Given the description of an element on the screen output the (x, y) to click on. 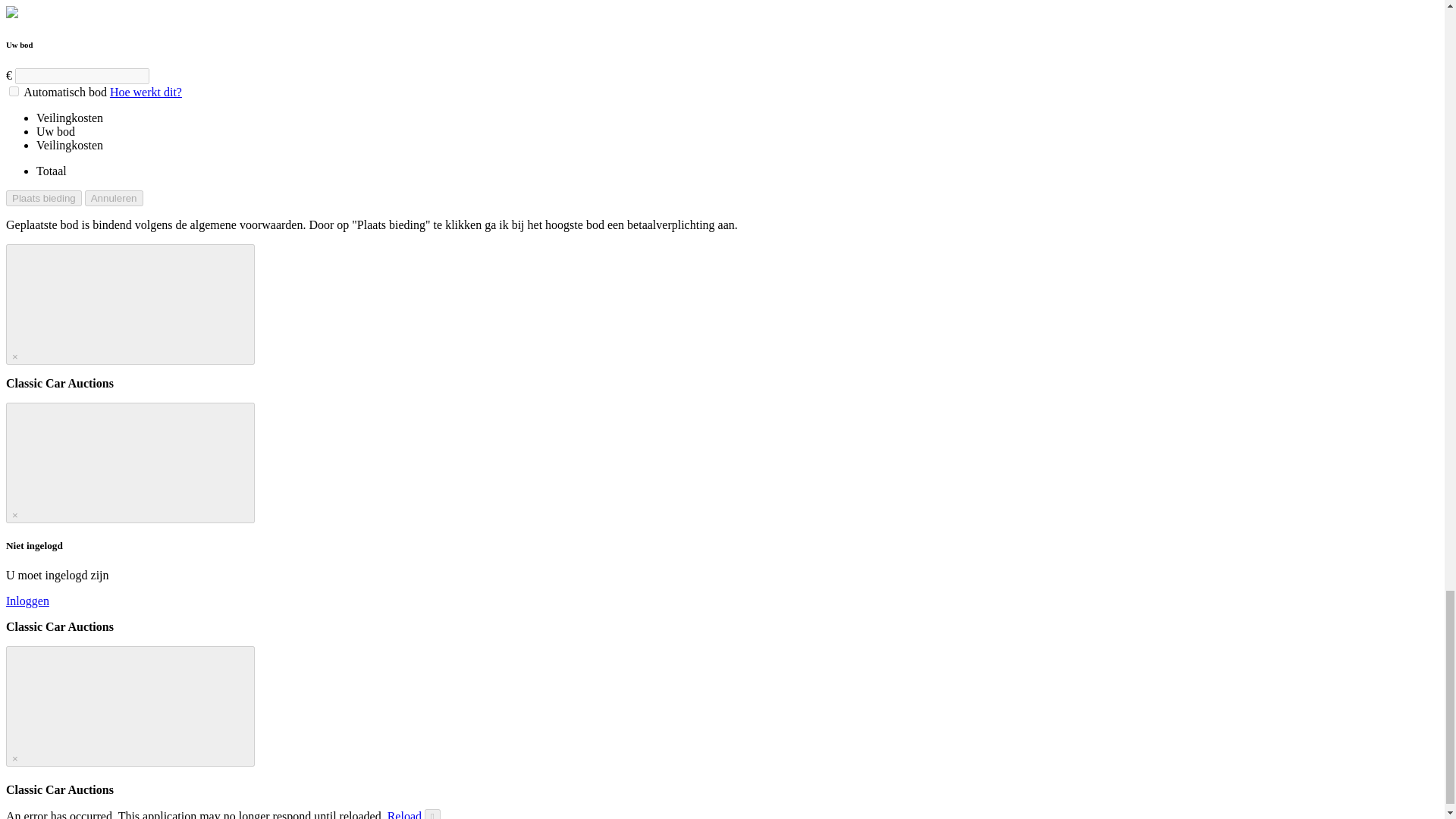
on (13, 91)
Plaats bieding (43, 198)
Hoe werkt dit? (146, 91)
Inloggen (27, 600)
Annuleren (113, 198)
